Given the description of an element on the screen output the (x, y) to click on. 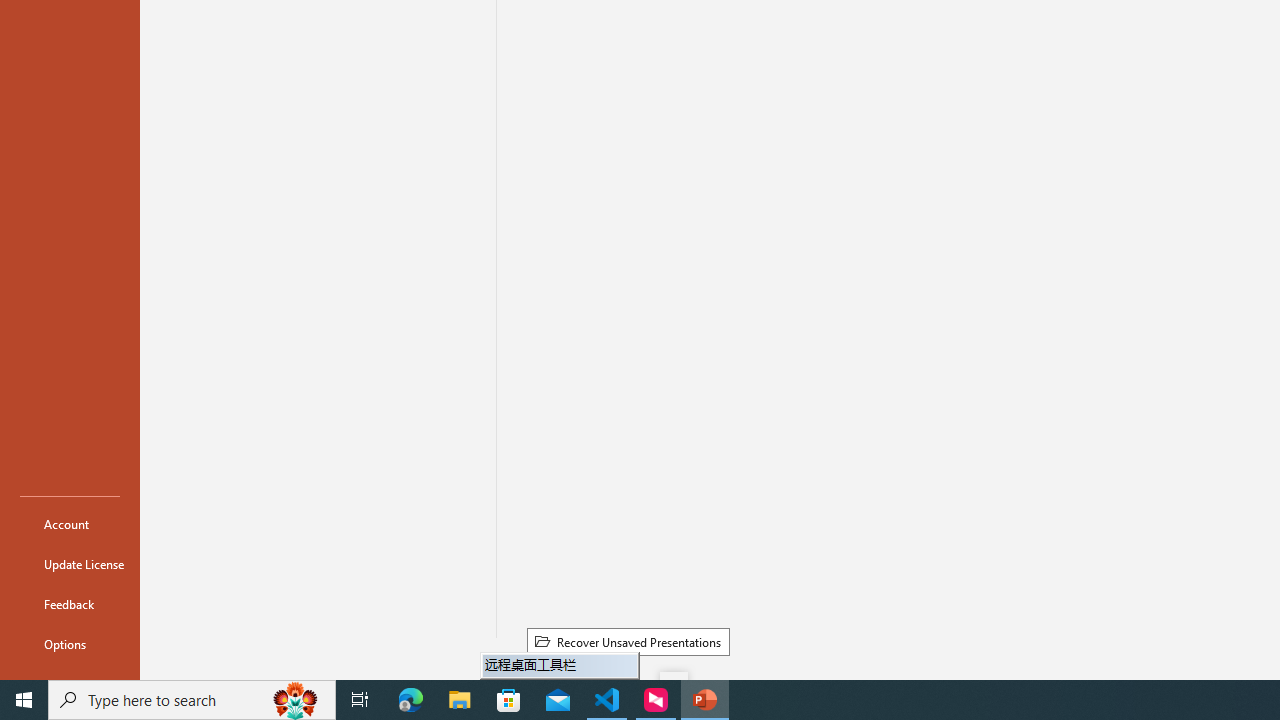
Update License (69, 563)
Account (69, 523)
Feedback (69, 603)
Recover Unsaved Presentations (628, 641)
Options (69, 643)
